Given the description of an element on the screen output the (x, y) to click on. 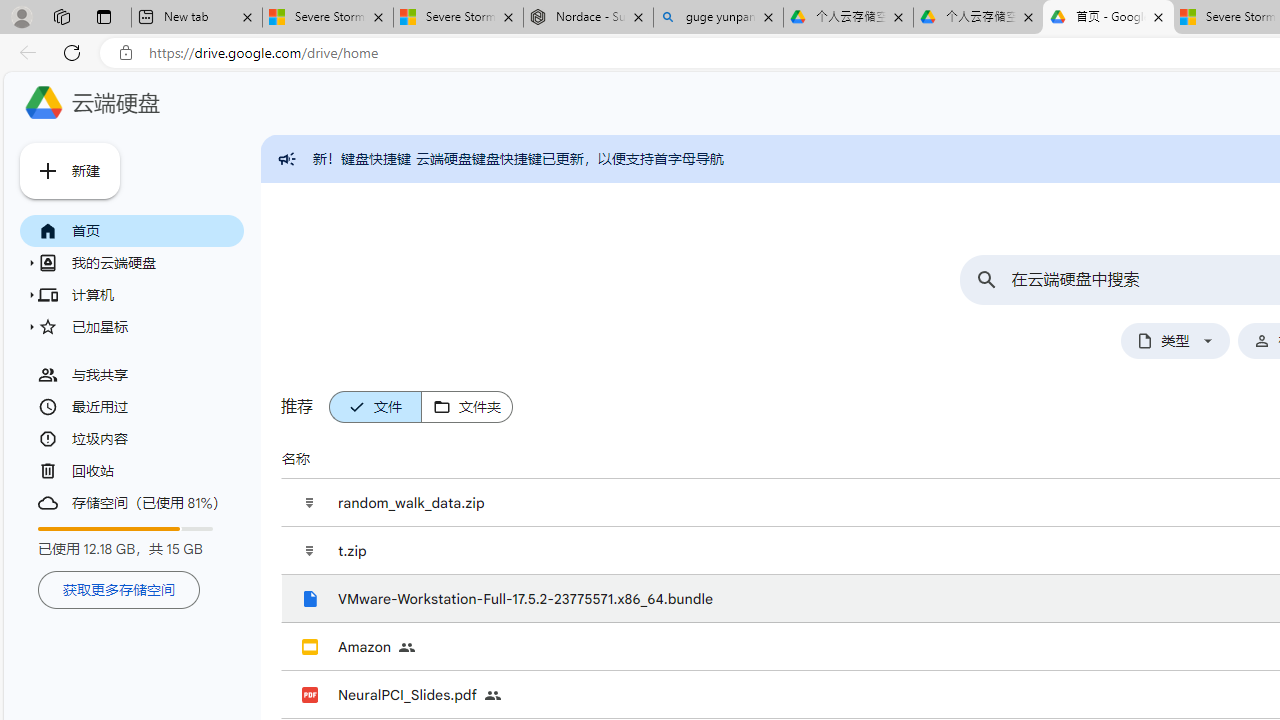
Class: Q6yead QJZfhe iWSr5 (441, 407)
Class: Q6yead QJZfhe  (47, 170)
